Given the description of an element on the screen output the (x, y) to click on. 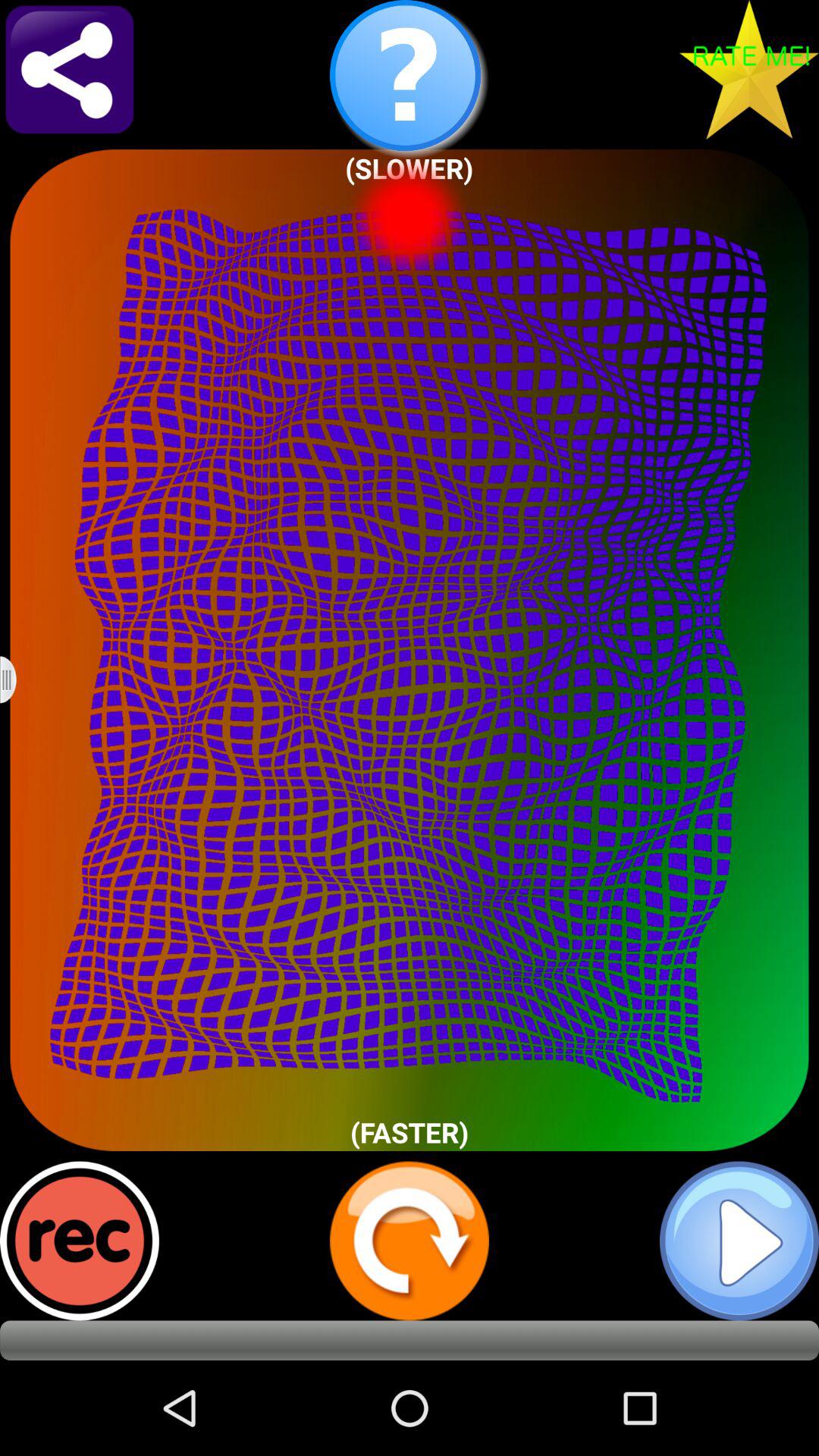
replay (409, 1240)
